Given the description of an element on the screen output the (x, y) to click on. 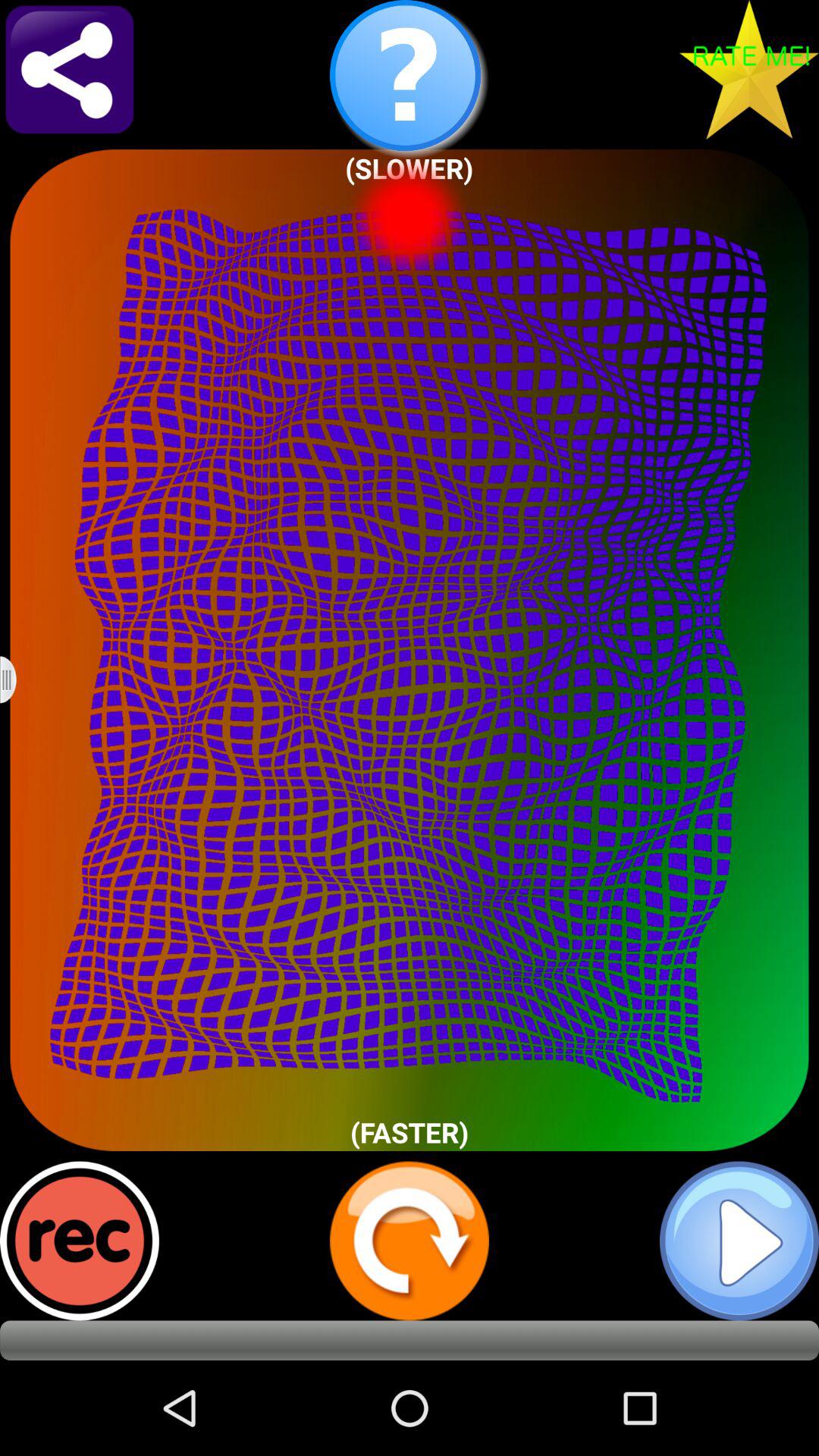
replay (409, 1240)
